Given the description of an element on the screen output the (x, y) to click on. 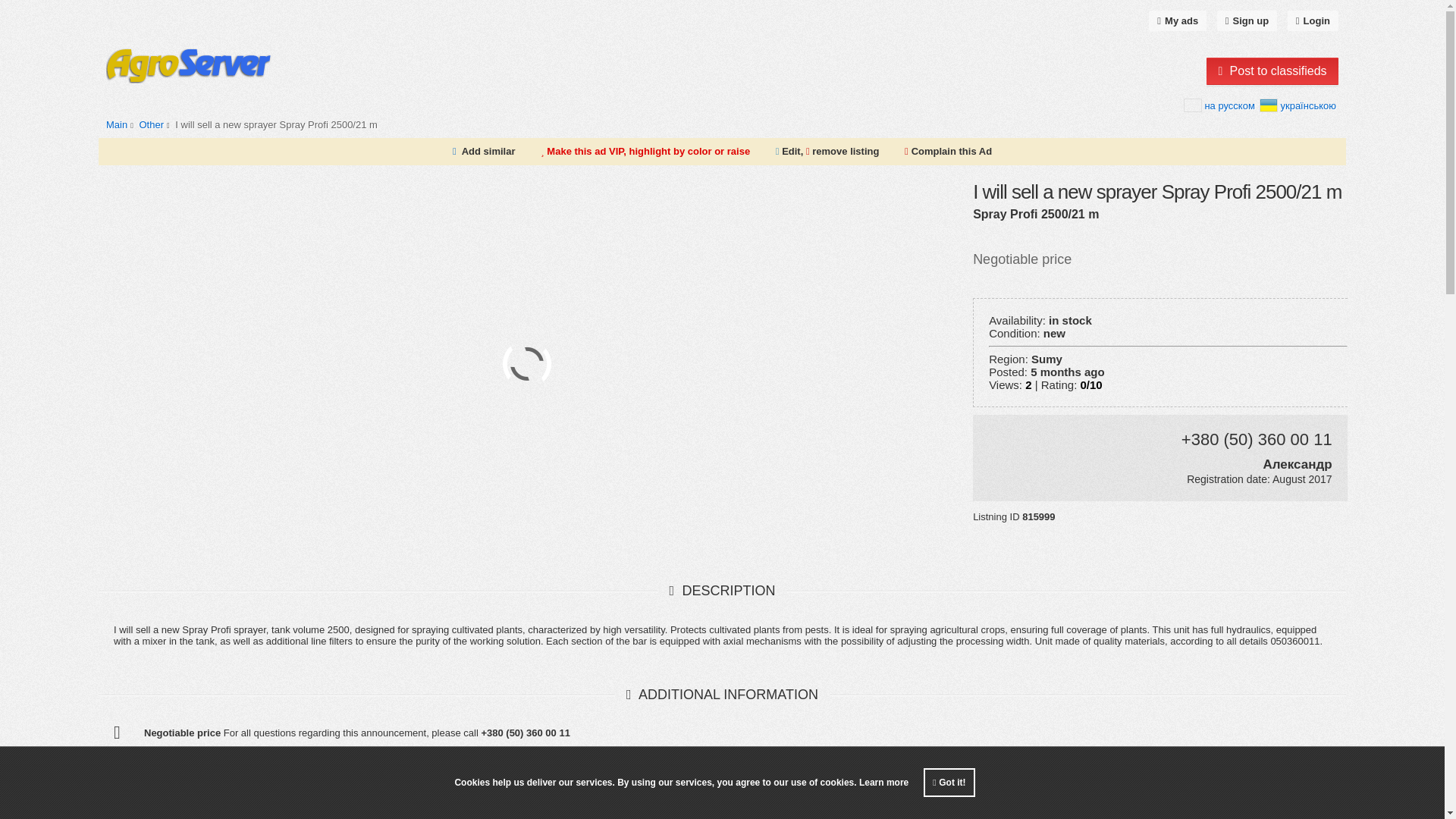
Sign up (1246, 20)
Make this ad VIP, highlight by color or raise (644, 151)
Complain this Ad (948, 151)
Login (1312, 20)
Post to classifieds (1272, 71)
Edit, remove listing (827, 151)
Other (150, 124)
Main (117, 124)
Complain this Ad (947, 151)
My ads (1177, 20)
